Given the description of an element on the screen output the (x, y) to click on. 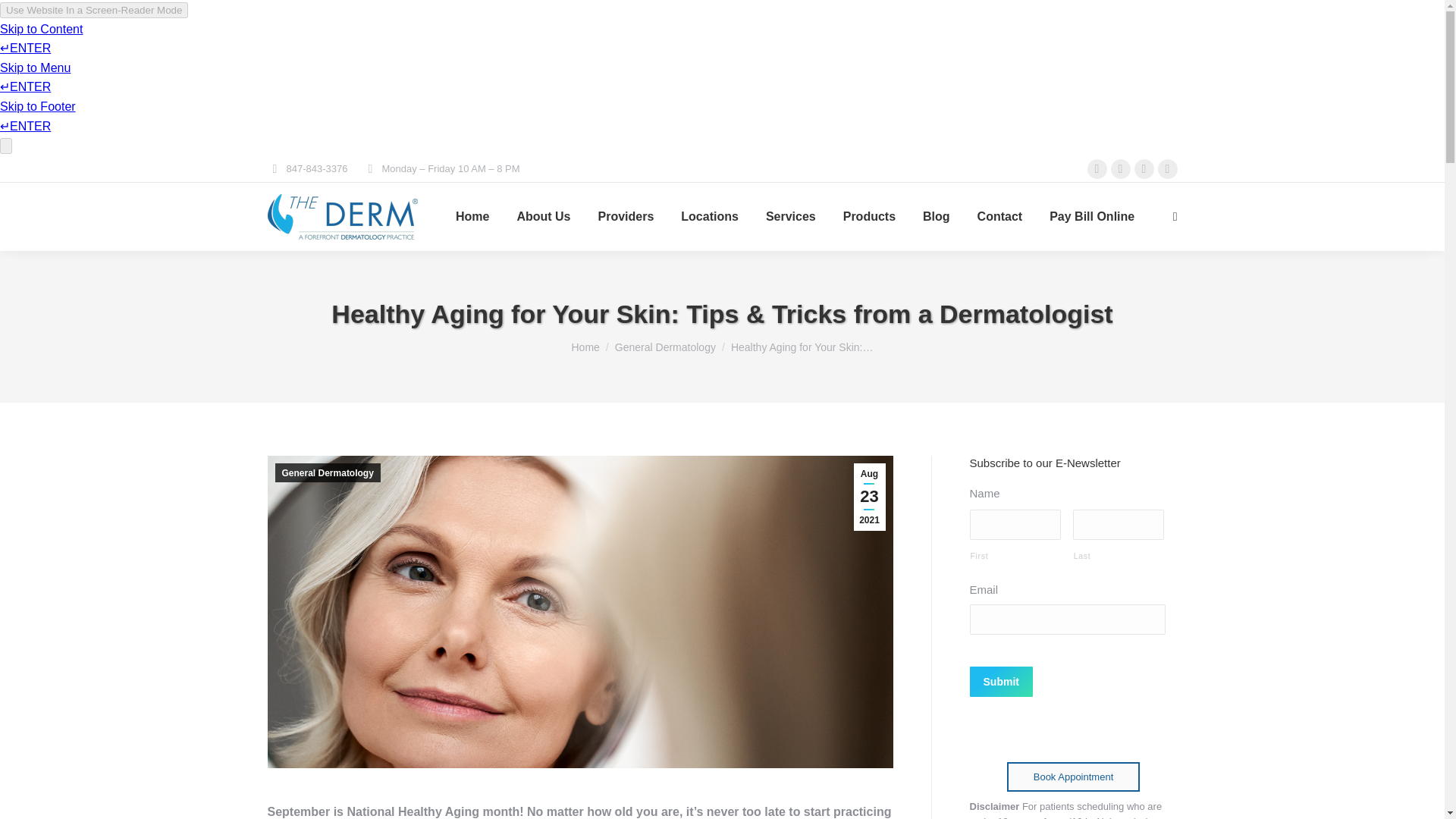
YouTube page opens in new window (1166, 168)
YouTube page opens in new window (1166, 168)
Contact (1000, 216)
Providers (625, 216)
About Us (543, 216)
Pay Bill Online (1091, 216)
Products (869, 216)
Twitter page opens in new window (1119, 168)
Home (472, 216)
Facebook page opens in new window (1096, 168)
Submit (1000, 681)
Services (790, 216)
Facebook page opens in new window (1096, 168)
Home (585, 346)
Instagram page opens in new window (1144, 168)
